Given the description of an element on the screen output the (x, y) to click on. 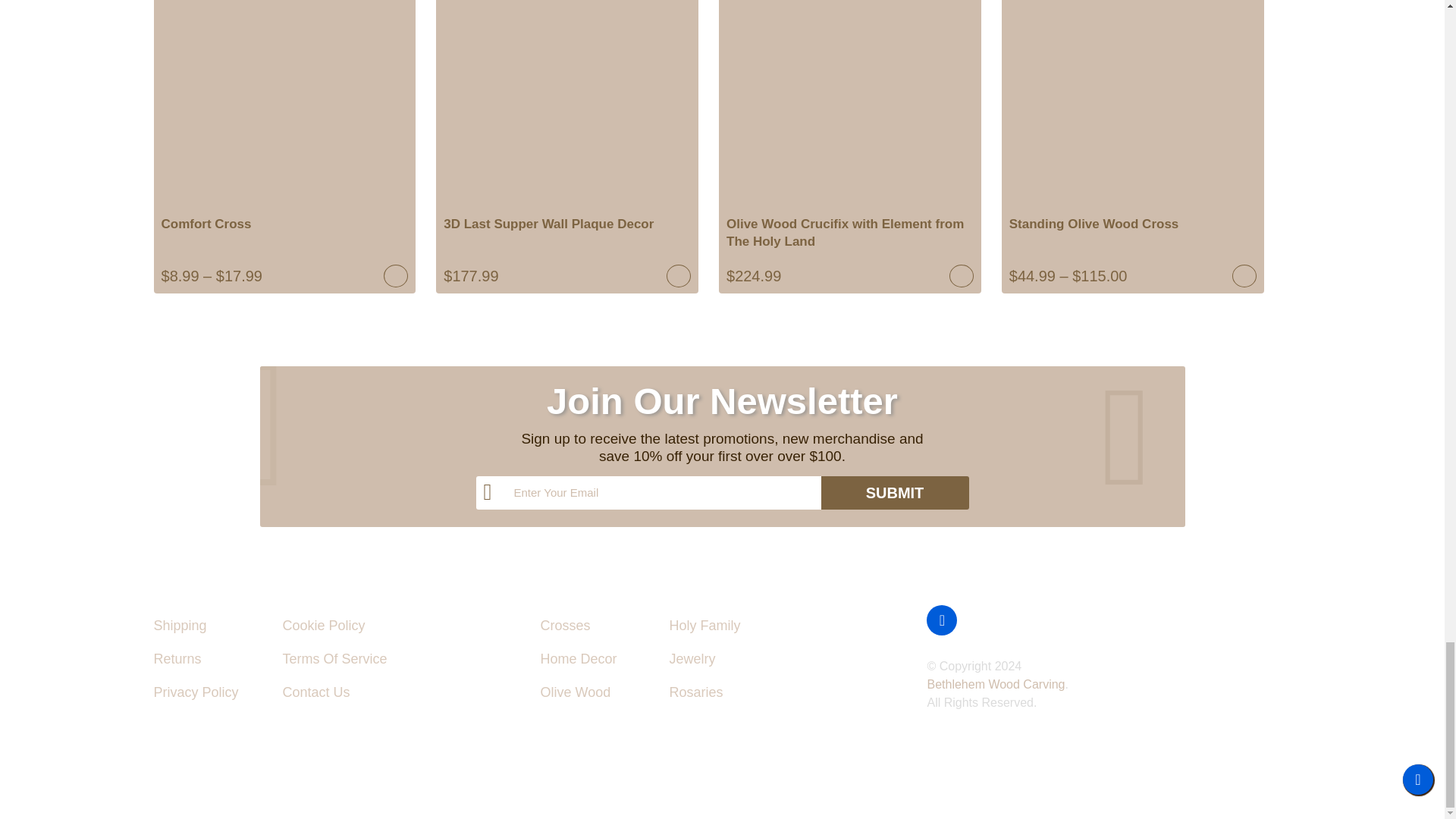
Facebook (941, 620)
Submit (894, 492)
